Given the description of an element on the screen output the (x, y) to click on. 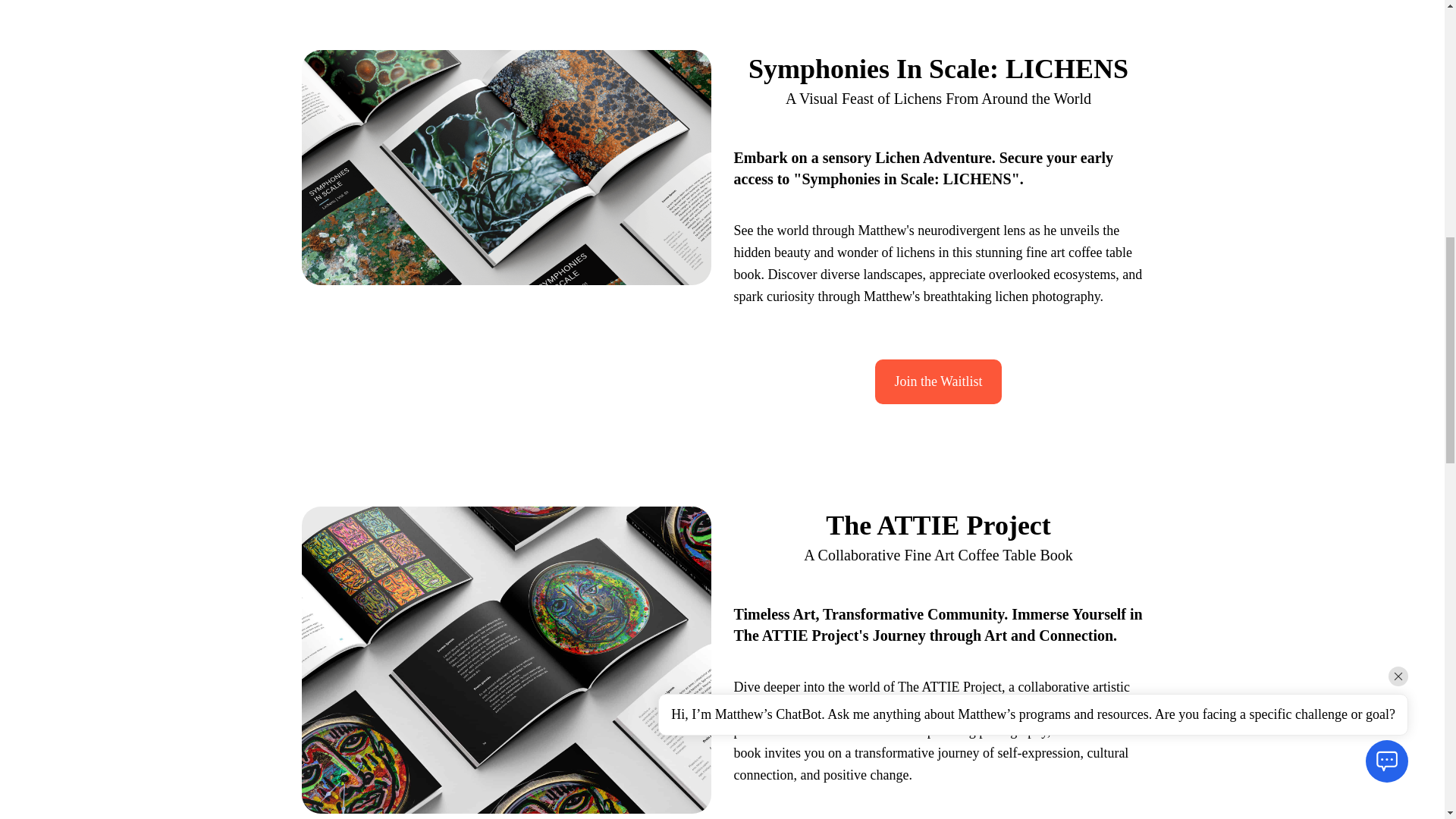
Perry Easton (1077, 708)
Join the Waitlist (938, 381)
